Given the description of an element on the screen output the (x, y) to click on. 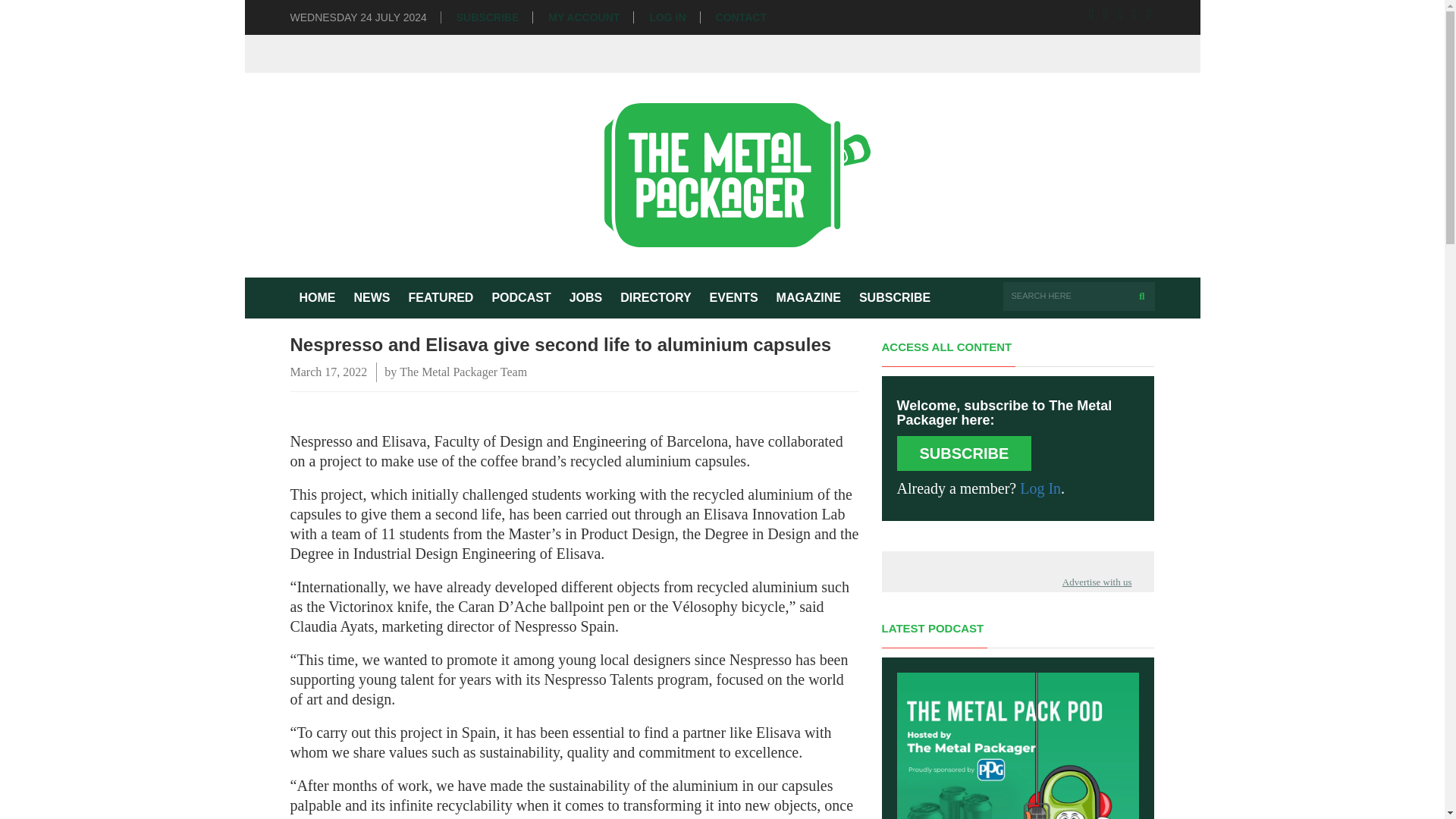
LOG IN (667, 17)
The Metal Packager Team (462, 372)
EVENTS (733, 297)
Subscribe (894, 297)
Posts by The Metal Packager Team (462, 372)
Magazine (808, 297)
Jobs (585, 297)
Podcast (520, 297)
NEWS (370, 297)
MY ACCOUNT (584, 17)
Home (316, 297)
FEATURED (439, 297)
MAGAZINE (808, 297)
The Metal Packager (722, 174)
News (370, 297)
